Given the description of an element on the screen output the (x, y) to click on. 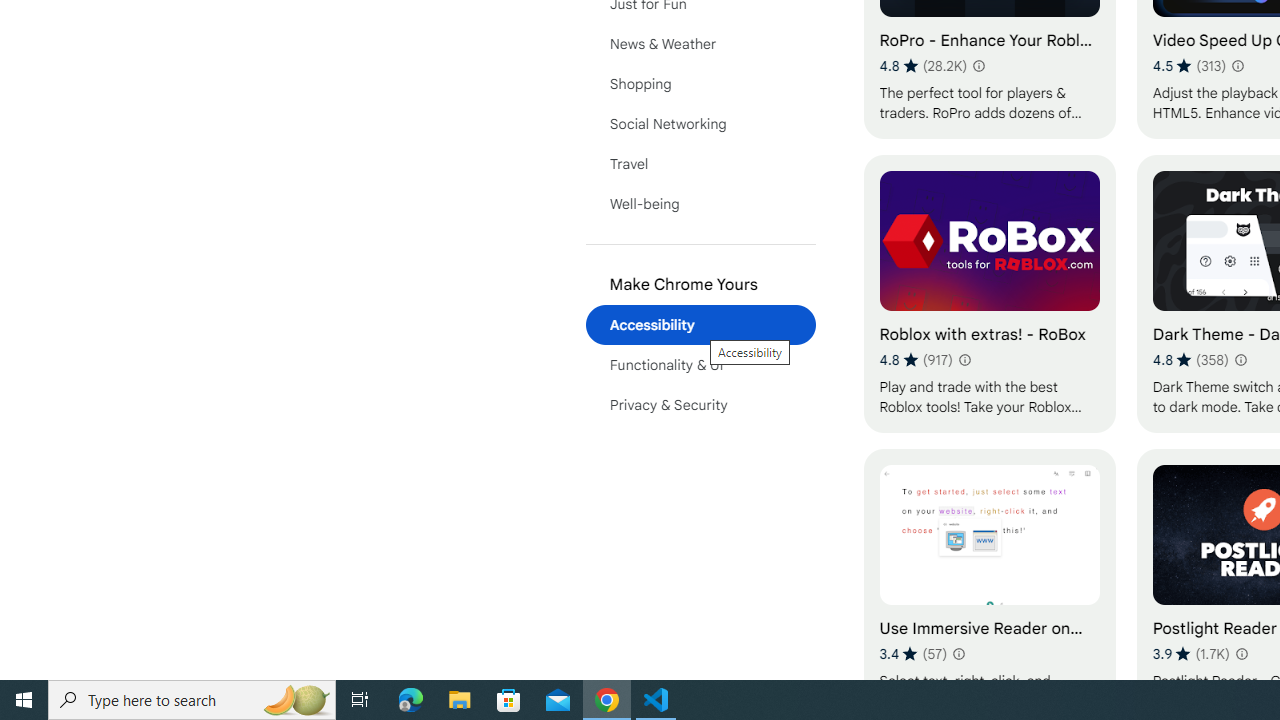
Average rating 4.8 out of 5 stars. 358 ratings. (1190, 359)
Accessibility (selected) (700, 324)
Average rating 4.8 out of 5 stars. 28.2K ratings. (923, 66)
